Given the description of an element on the screen output the (x, y) to click on. 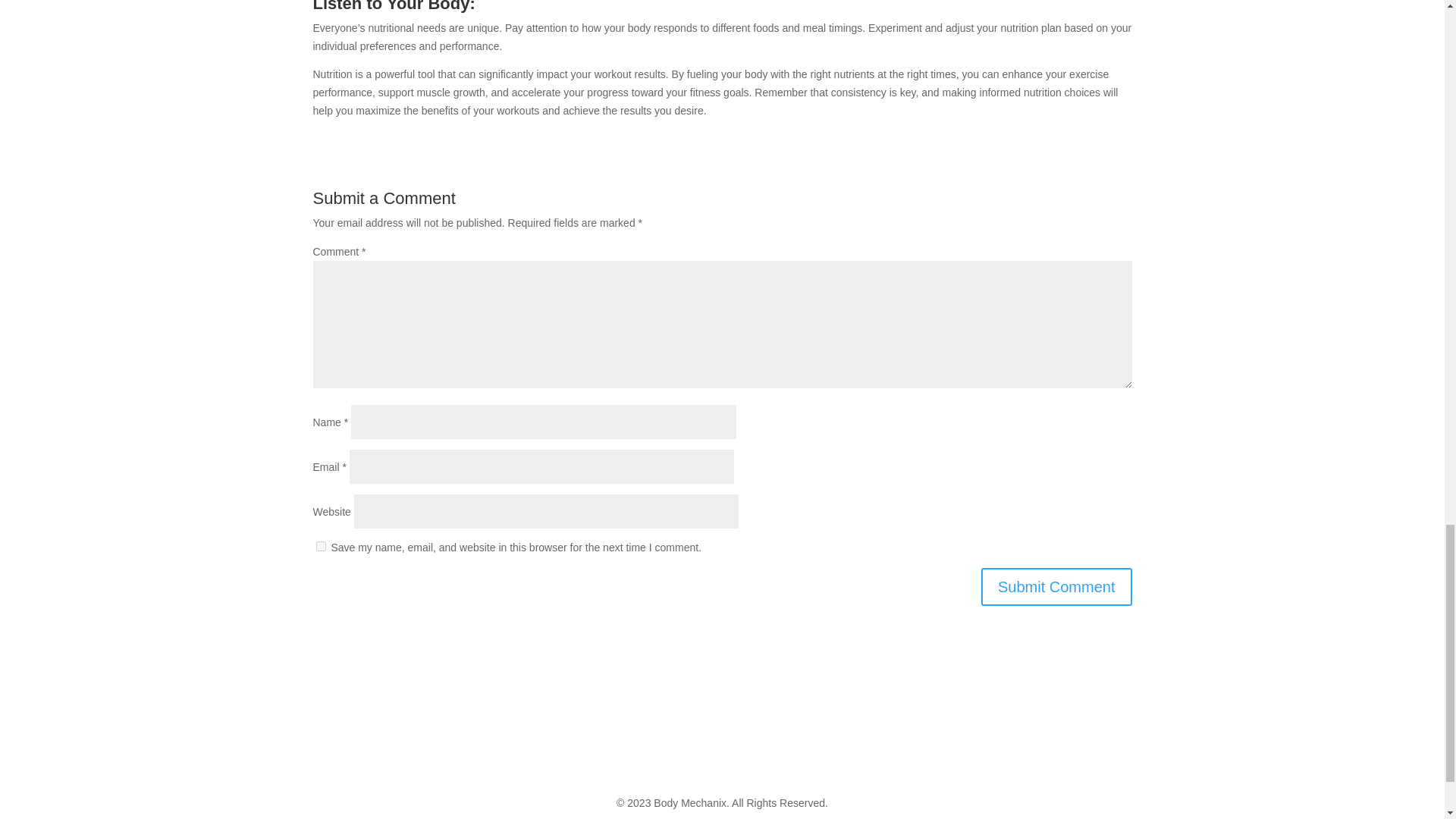
yes (319, 546)
Submit Comment (1056, 587)
Submit Comment (1056, 587)
